Given the description of an element on the screen output the (x, y) to click on. 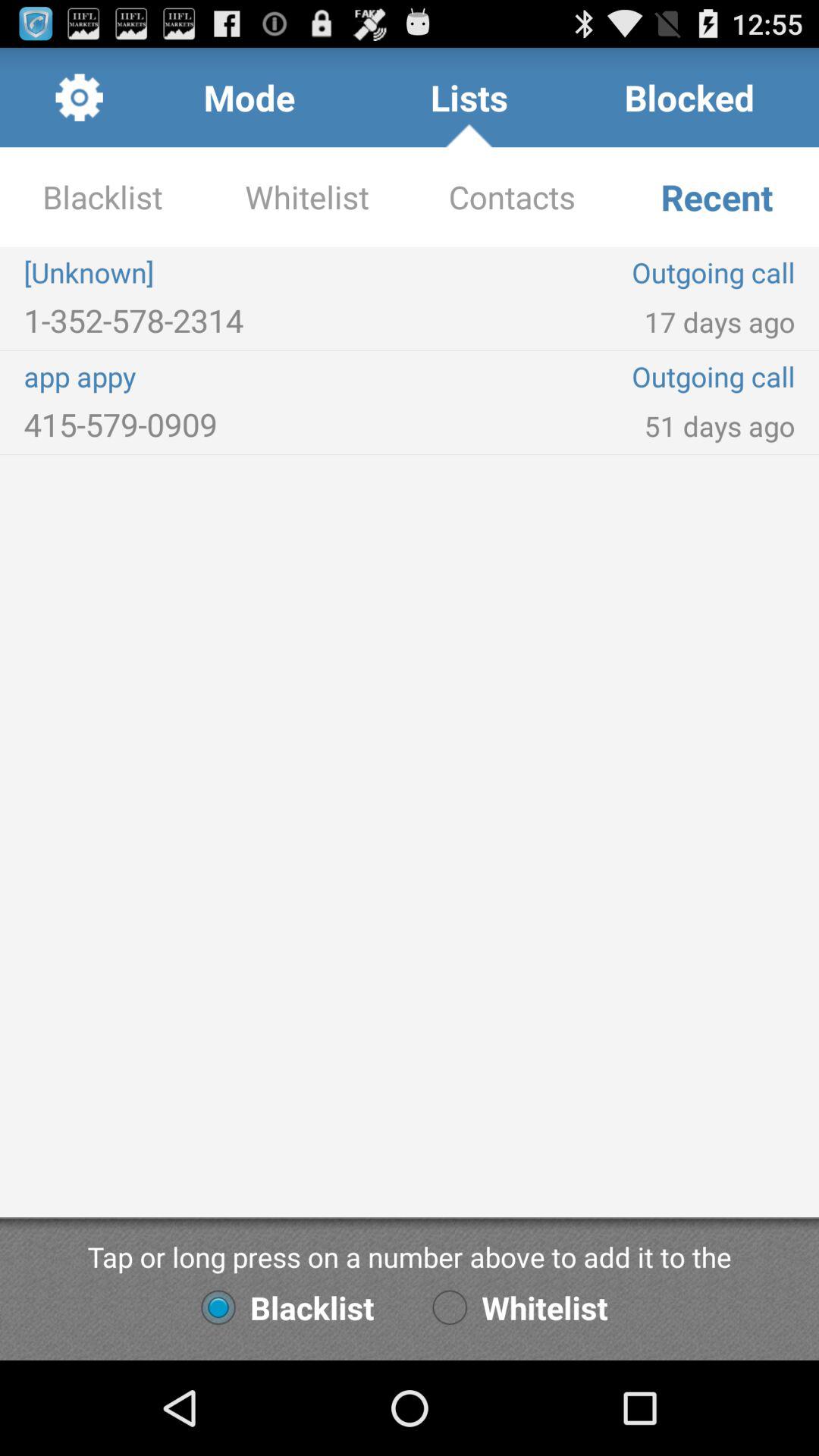
turn off the icon to the right of the lists icon (689, 97)
